Given the description of an element on the screen output the (x, y) to click on. 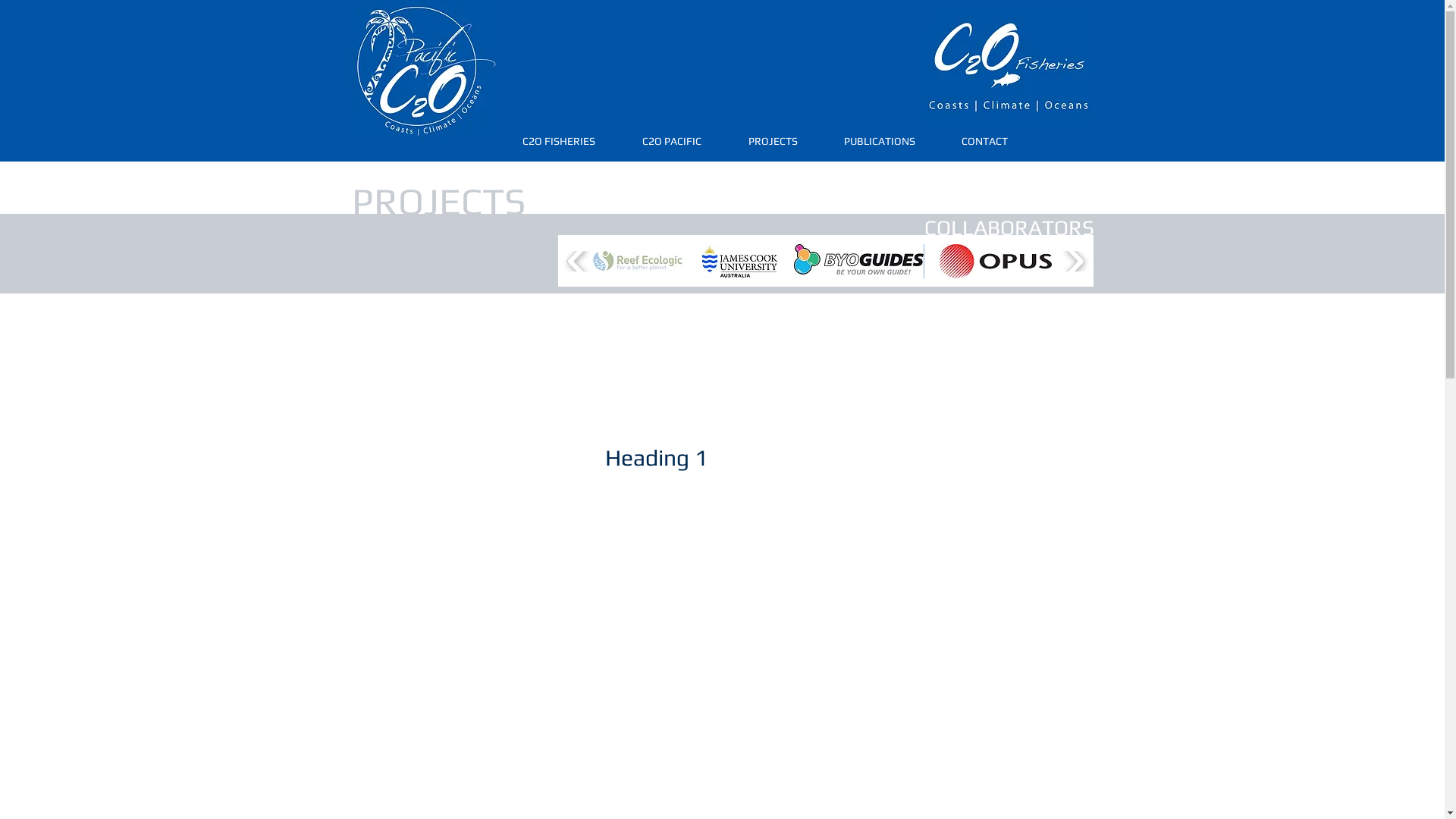
C2O FISHERIES Element type: text (558, 140)
C2O PACIFIC Element type: text (671, 140)
CONTACT Element type: text (983, 140)
PUBLICATIONS Element type: text (879, 140)
PROJECTS Element type: text (772, 140)
